Given the description of an element on the screen output the (x, y) to click on. 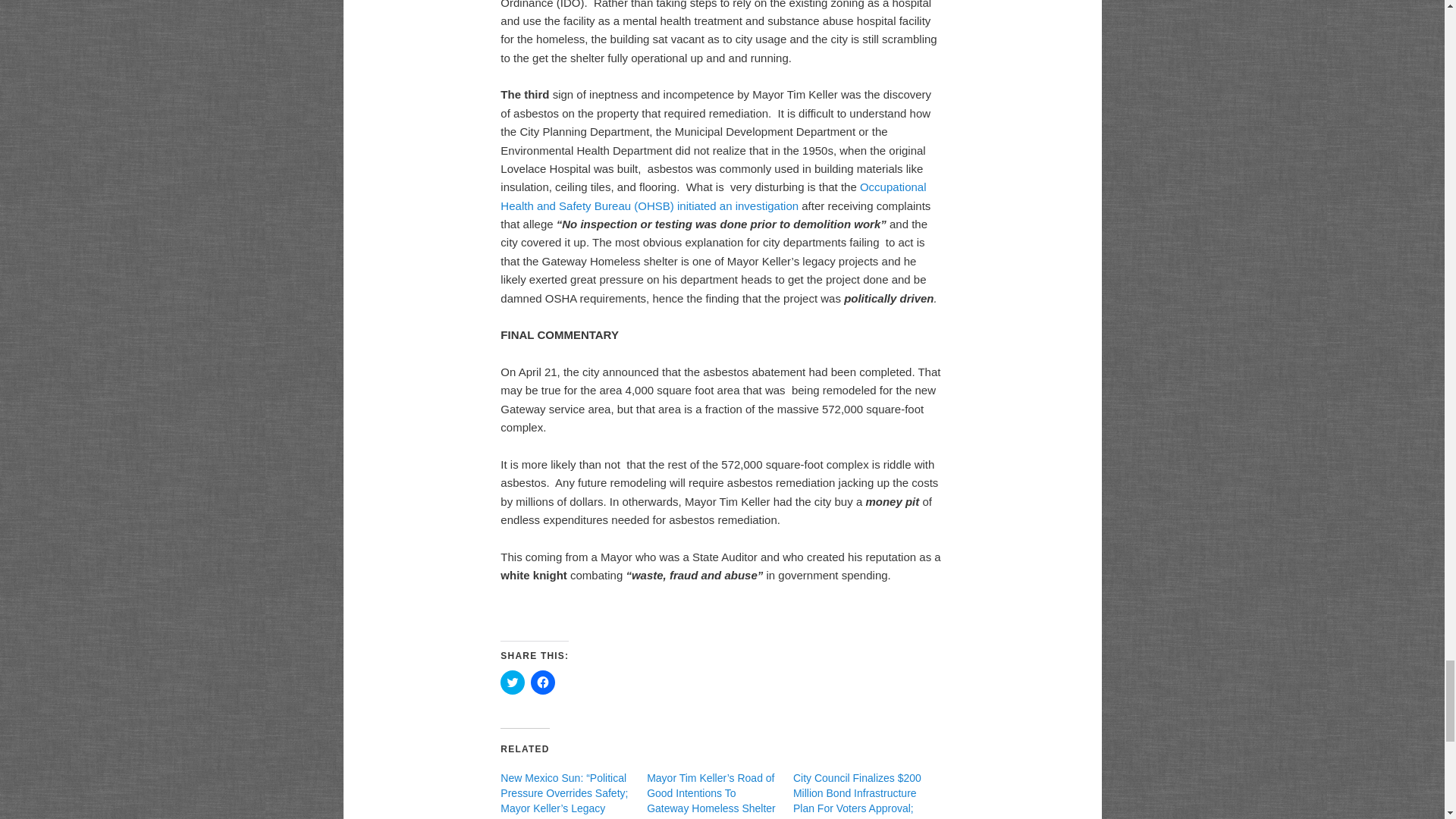
Click to share on Facebook (542, 682)
Click to share on Twitter (512, 682)
